Given the description of an element on the screen output the (x, y) to click on. 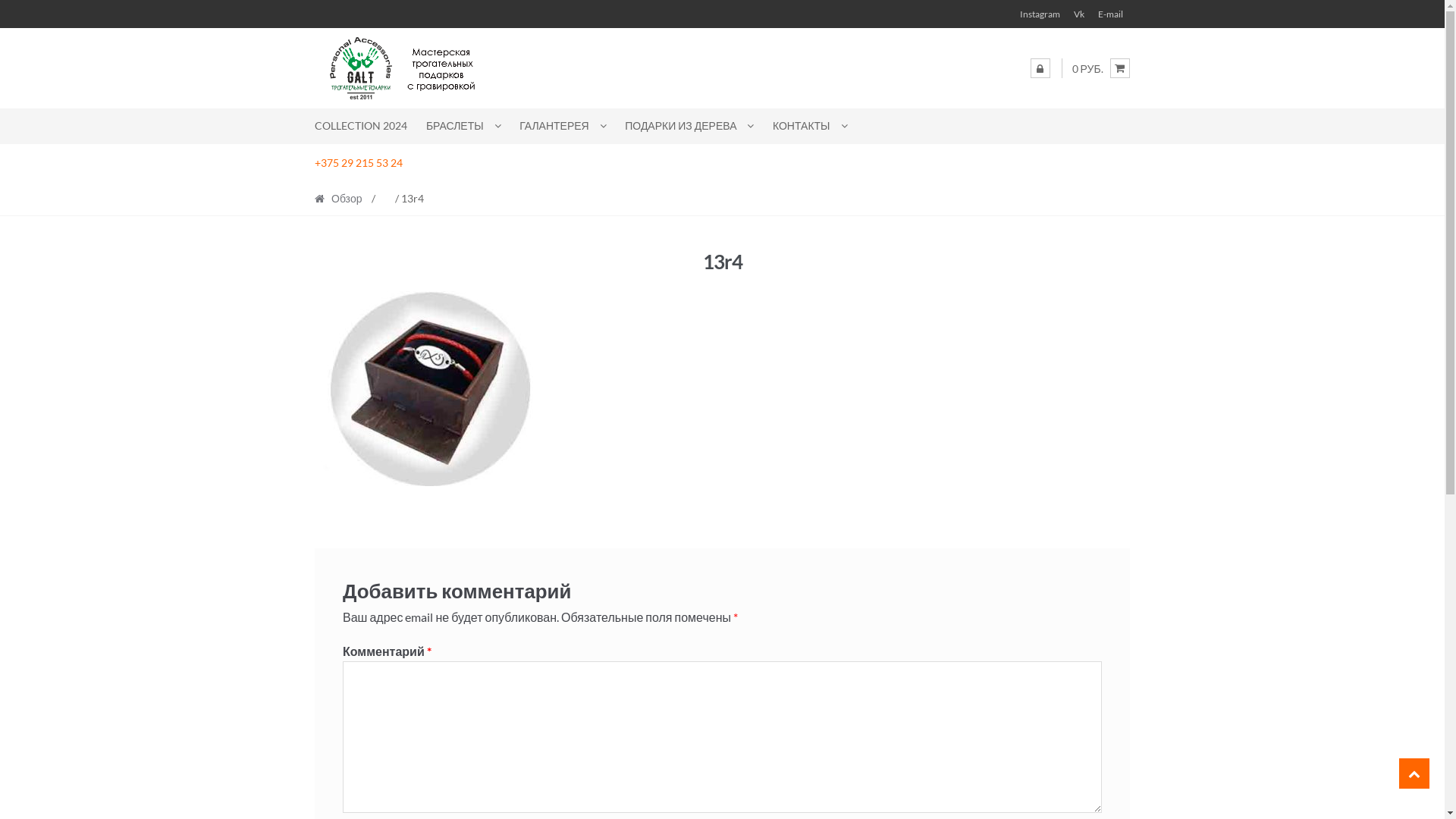
Instagram Element type: text (1039, 14)
Vk Element type: text (1078, 14)
COLLECTION 2024 Element type: text (365, 126)
+375 29 215 53 24 Element type: text (358, 162)
Login / Register Element type: hover (1039, 68)
E-mail Element type: text (1110, 14)
